Given the description of an element on the screen output the (x, y) to click on. 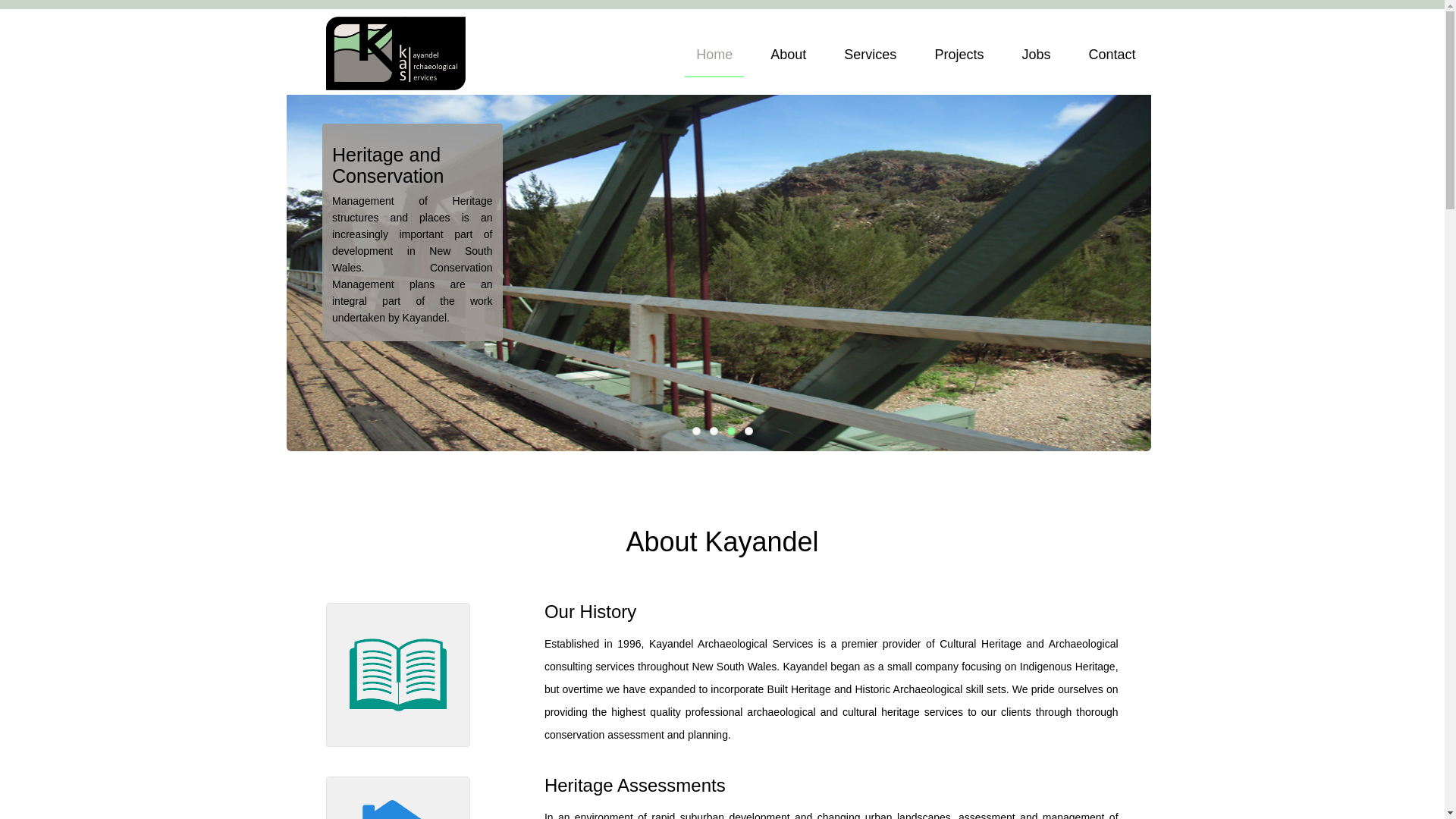
2 Element type: text (713, 430)
Home Element type: text (713, 58)
Jobs Element type: text (1035, 58)
3 Element type: text (730, 430)
Services Element type: text (869, 58)
4 Element type: text (748, 430)
About Element type: text (788, 58)
Contact Element type: text (1111, 58)
Projects Element type: text (958, 58)
1 Element type: text (695, 430)
